Given the description of an element on the screen output the (x, y) to click on. 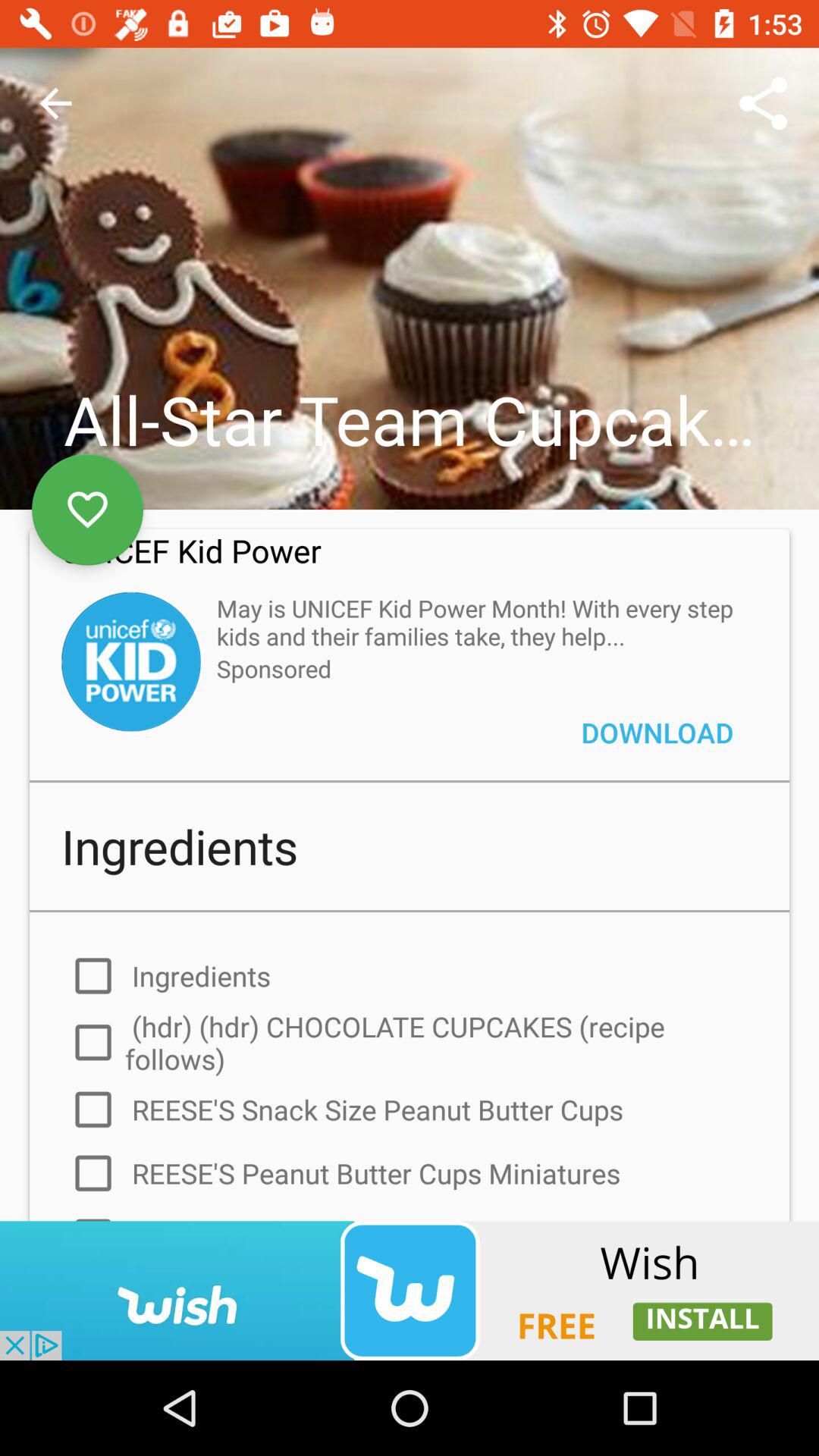
select advertisement (409, 1290)
